Given the description of an element on the screen output the (x, y) to click on. 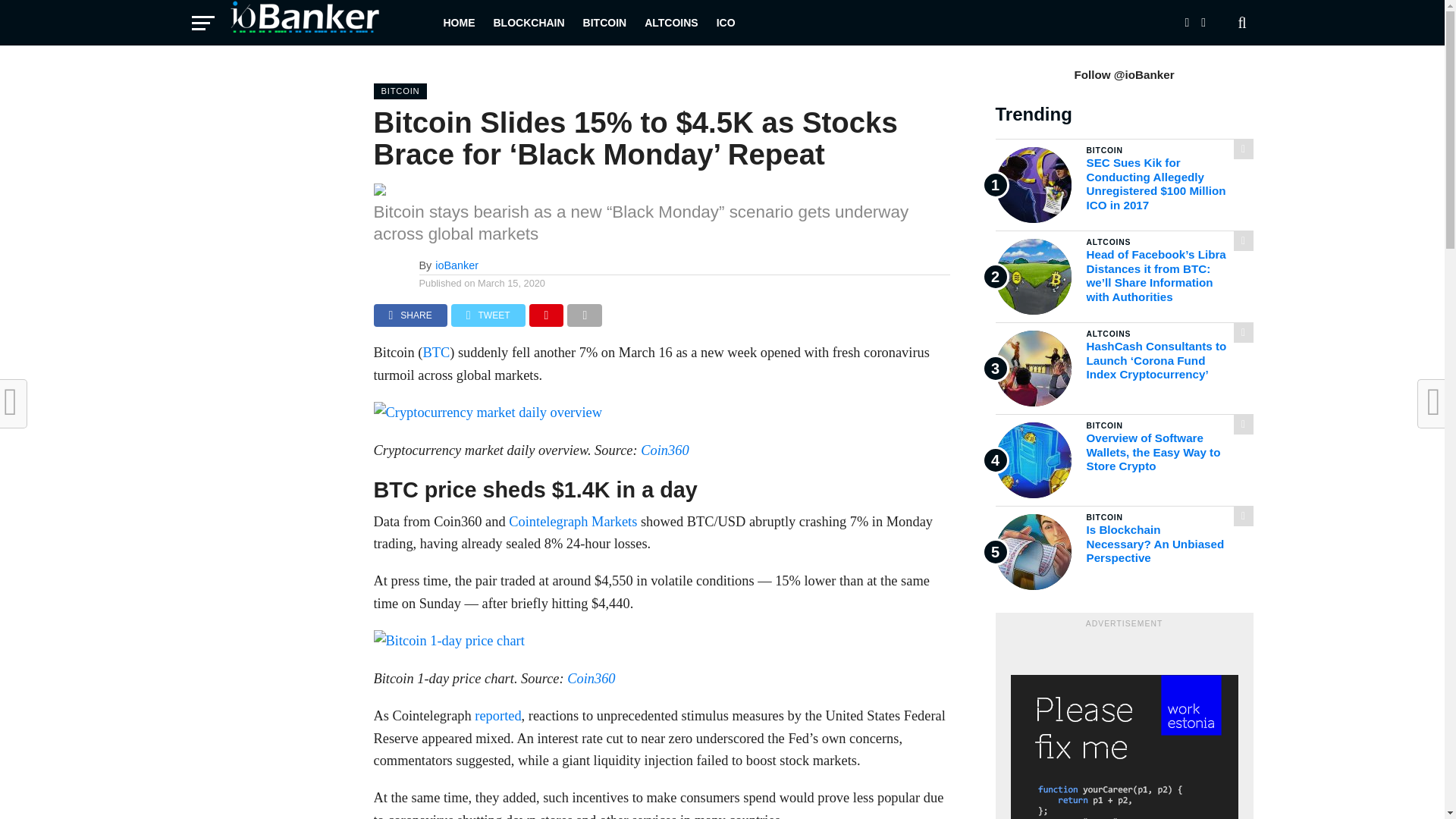
HOME (458, 22)
Cointelegraph Markets (572, 521)
BITCOIN (604, 22)
Bitcoin 1-day price chart (448, 640)
Coin360 (664, 450)
Coin360 (590, 678)
BLOCKCHAIN (528, 22)
Posts by ioBanker (457, 265)
ioBanker (457, 265)
ALTCOINS (670, 22)
